Given the description of an element on the screen output the (x, y) to click on. 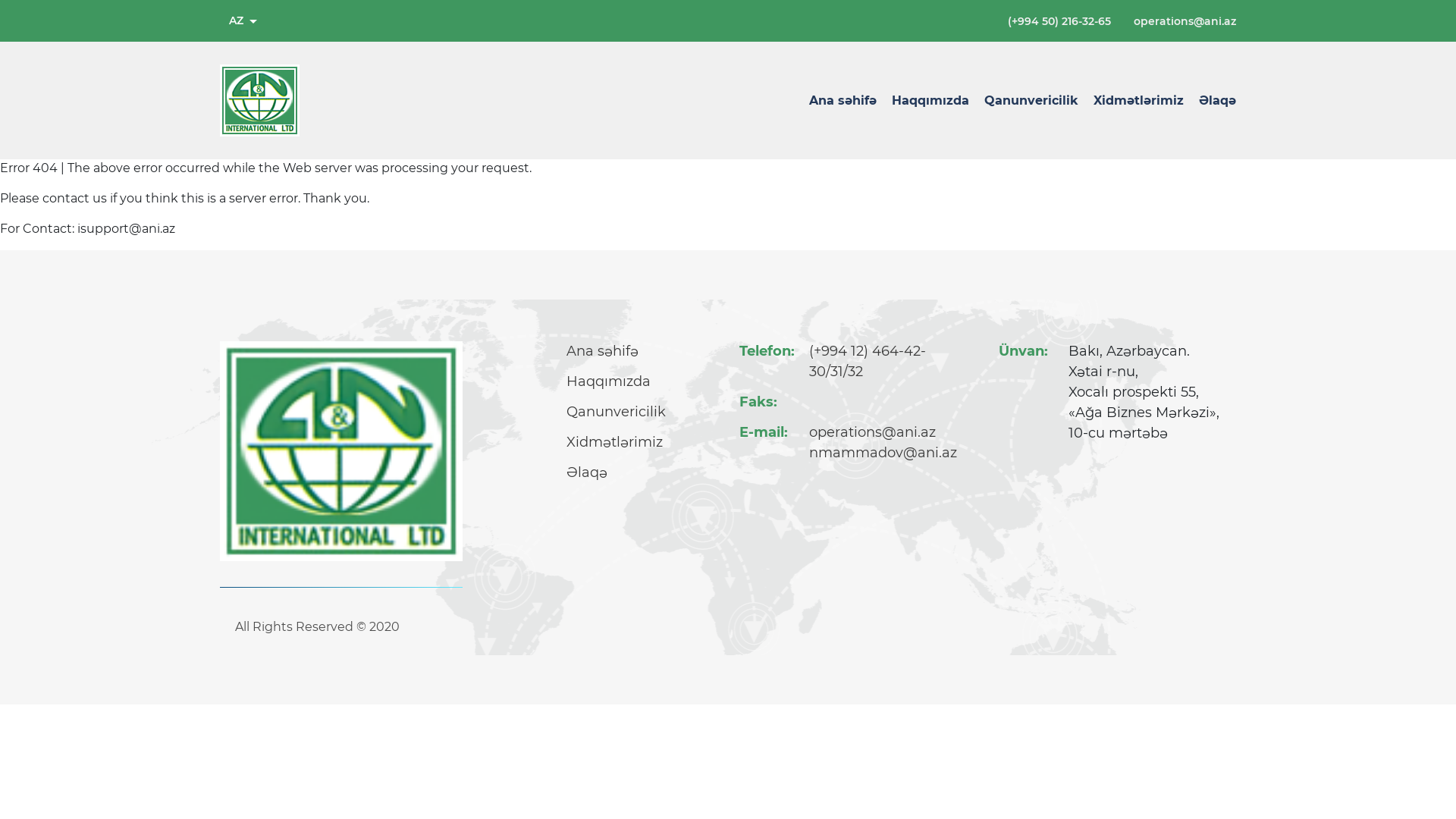
(+994 50) 216-32-65 Element type: text (1058, 20)
operations@ani.az Element type: text (1184, 20)
Qanunvericilik Element type: text (1031, 99)
(+994 12) 464-42-30/31/32 Element type: text (892, 361)
operations@ani.az Element type: text (872, 431)
AZ Element type: text (242, 20)
Qanunvericilik Element type: text (615, 411)
nmammadov@ani.az Element type: text (883, 452)
